Given the description of an element on the screen output the (x, y) to click on. 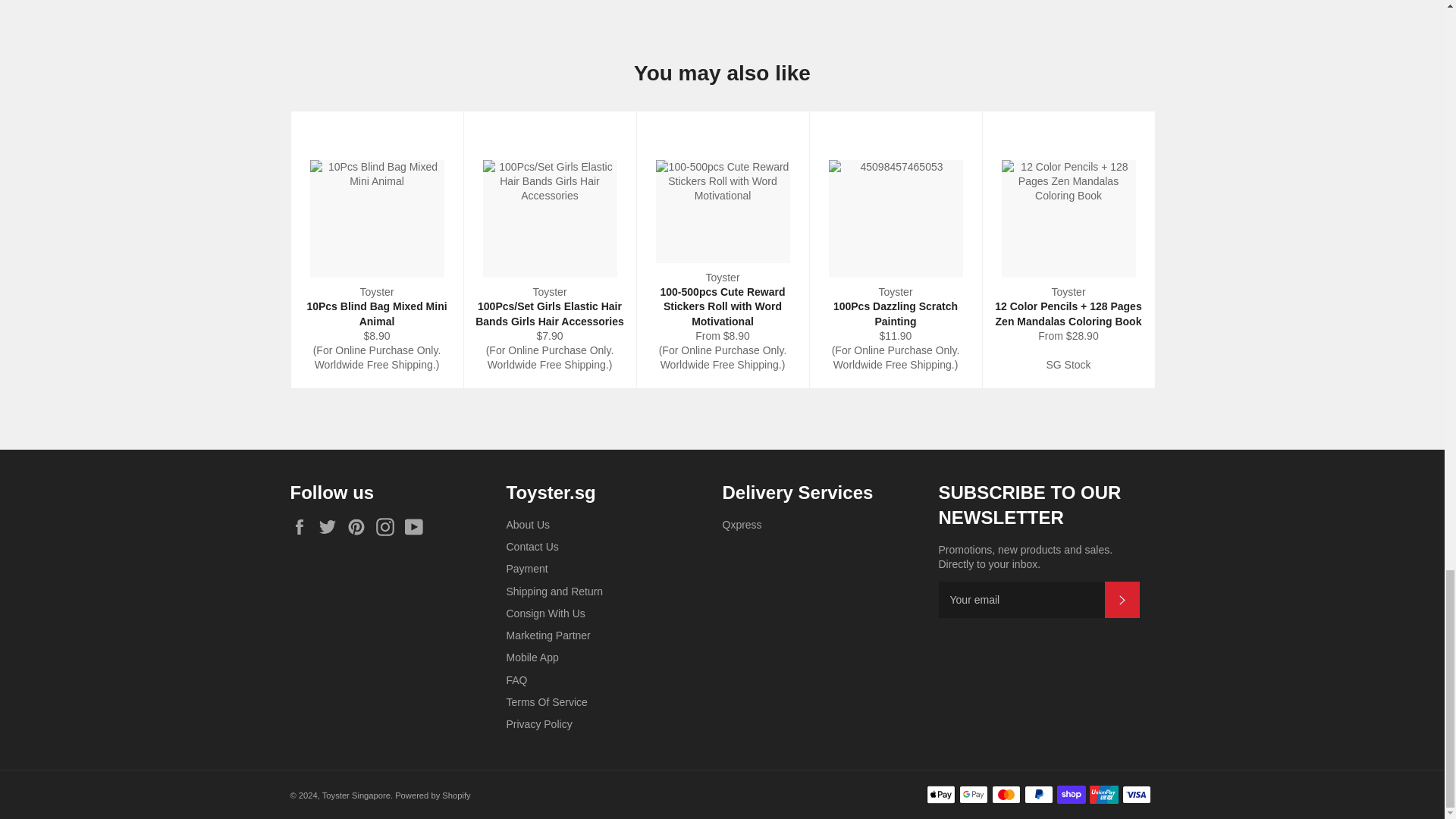
Toyster Singapore on Pinterest (359, 526)
Toyster Singapore on Instagram (388, 526)
Toyster Singapore on Twitter (330, 526)
Toyster Singapore on Facebook (302, 526)
Toyster Singapore on YouTube (417, 526)
